Given the description of an element on the screen output the (x, y) to click on. 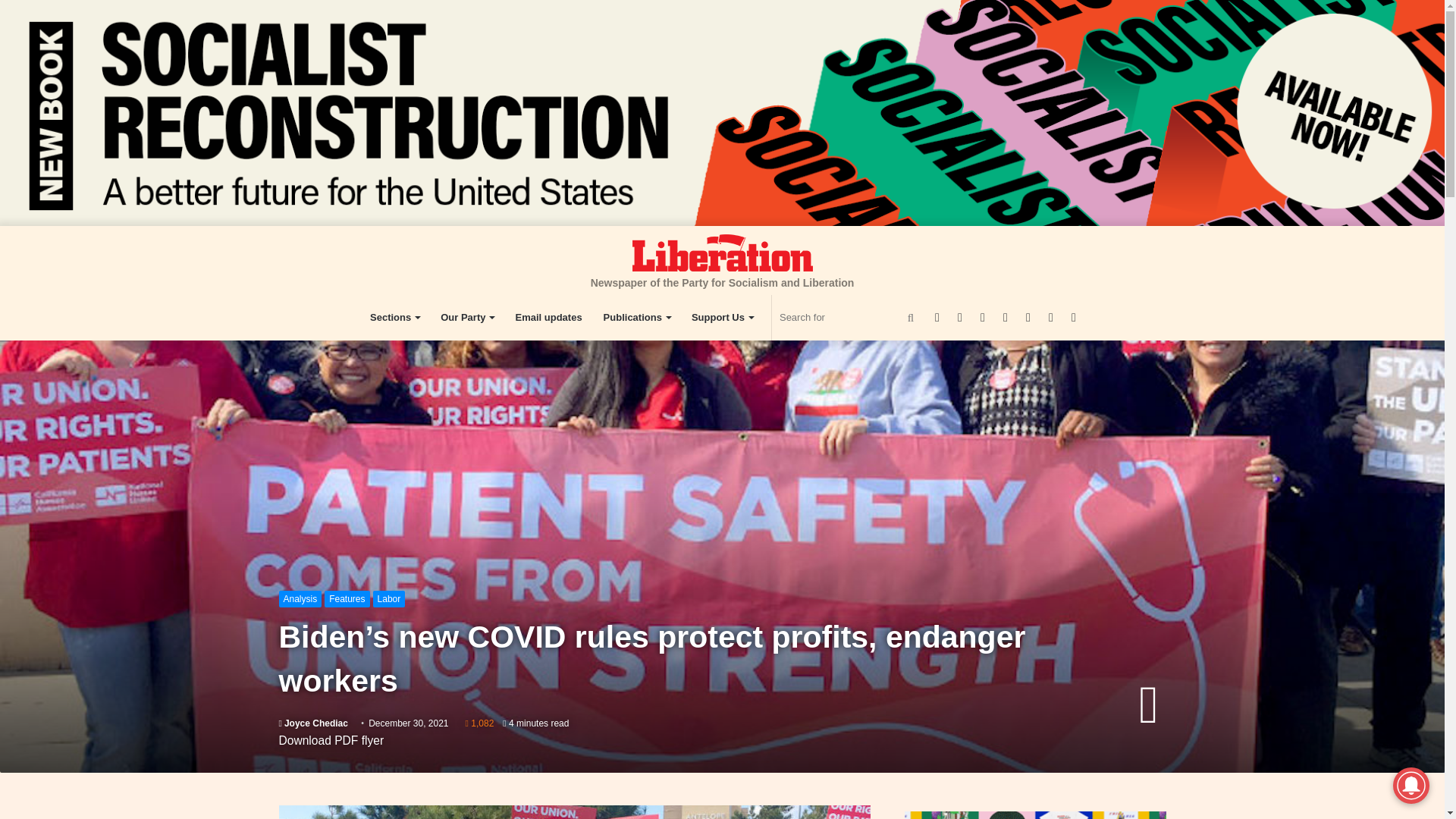
Search for (848, 317)
Analysis (300, 598)
Labor (389, 598)
Joyce Chediac (313, 723)
Sections (394, 317)
Joyce Chediac (313, 723)
Publications (636, 317)
Email updates (547, 317)
Support Us (721, 317)
Features (346, 598)
